Given the description of an element on the screen output the (x, y) to click on. 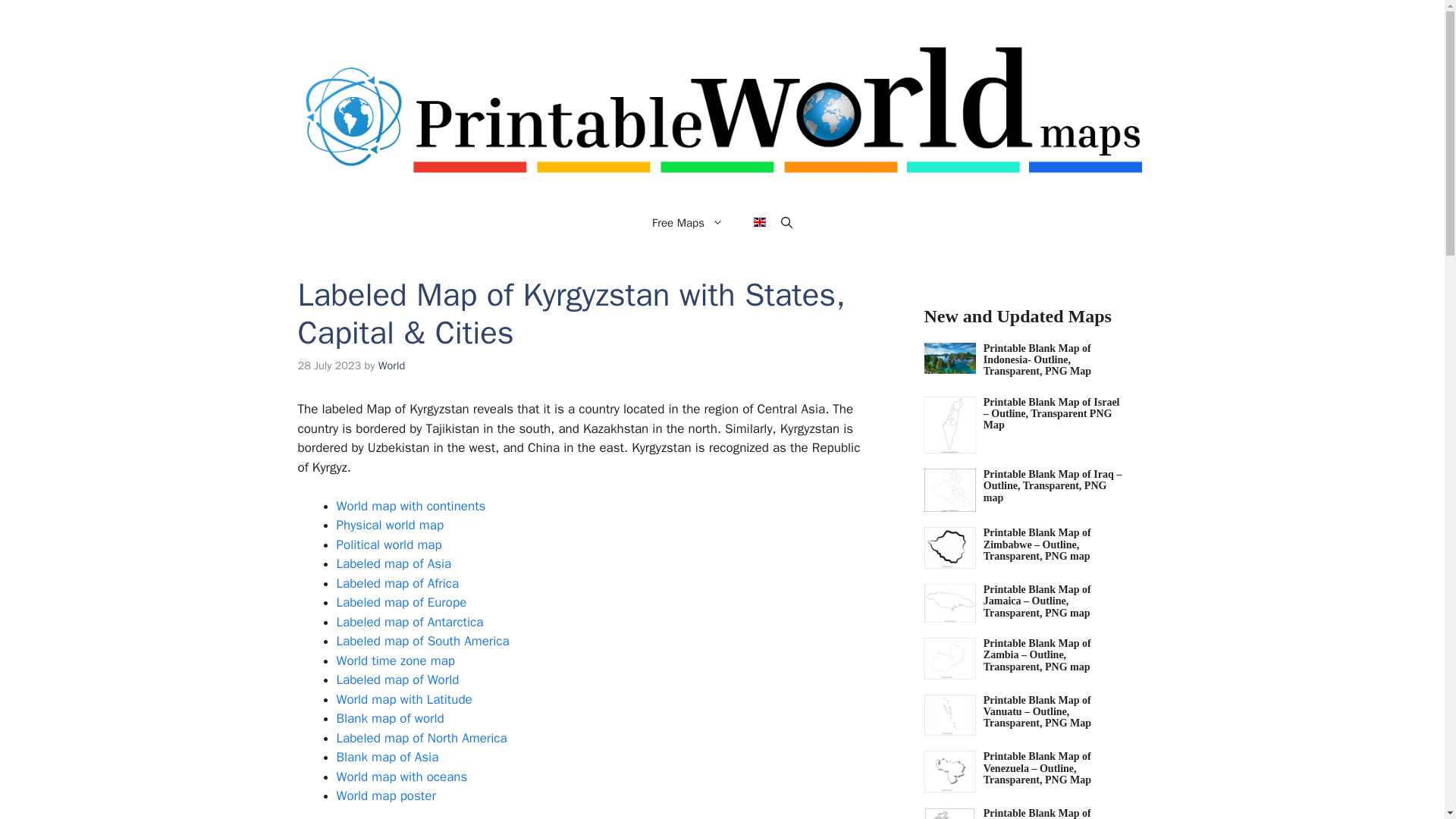
Political world map (389, 544)
World (391, 365)
Labeled map of Antarctica (409, 621)
Labeled map of North America (421, 738)
Labeled map of South America (422, 641)
World time zone map (395, 660)
Blank map of Asia (387, 756)
Labeled map of Asia (393, 563)
Labeled map of Europe (401, 602)
Physical world map (390, 524)
